Given the description of an element on the screen output the (x, y) to click on. 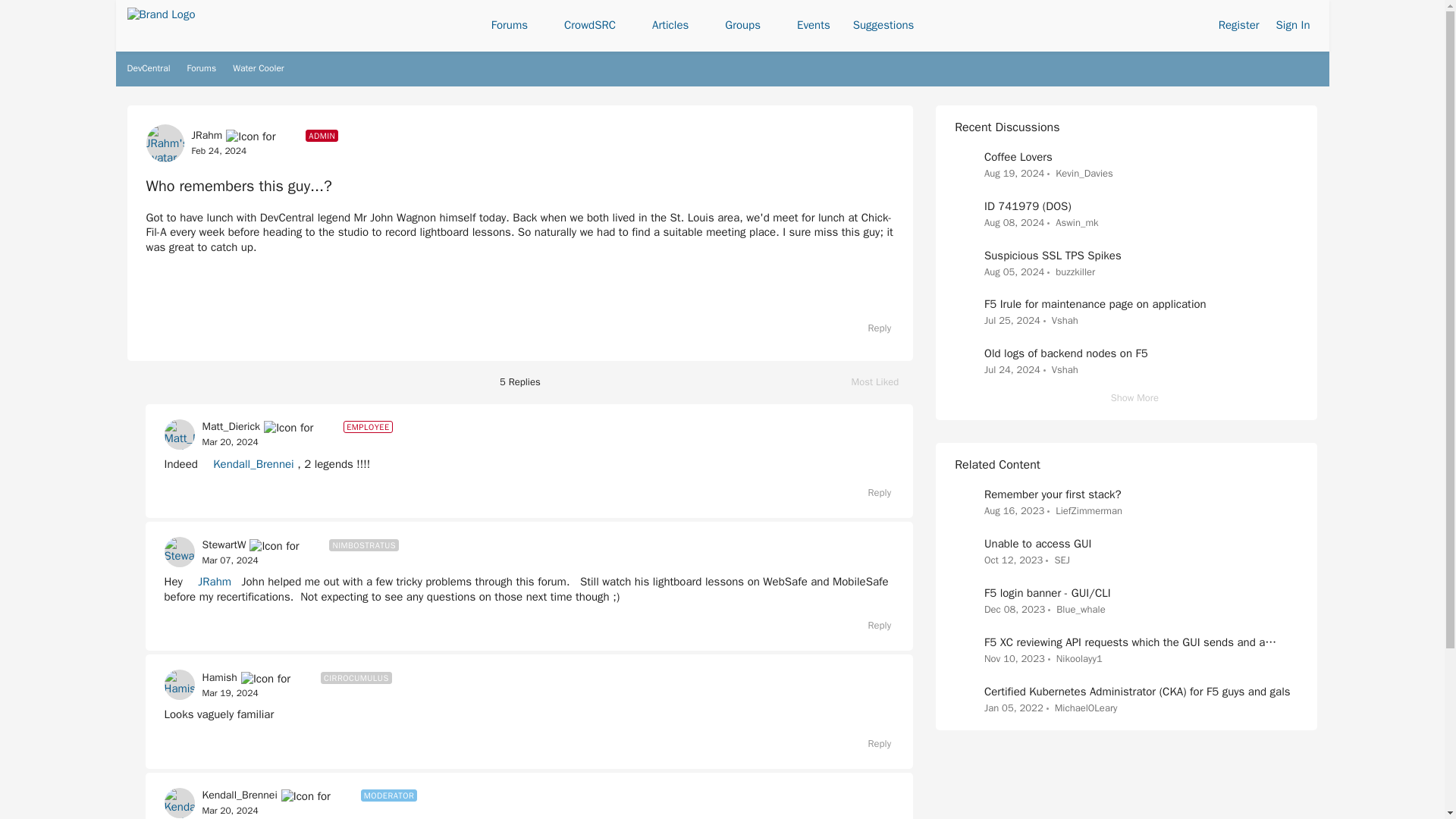
JRahm (206, 135)
Reply (871, 743)
Events (813, 25)
February 24, 2024 at 12:19 AM (218, 150)
JRahm (208, 581)
F5 Irule for maintenance page on application (1095, 304)
March 7, 2024 at 1:00 AM (229, 560)
July 25, 2024 at 6:24 AM (1012, 319)
Remember your first stack? (882, 382)
